Given the description of an element on the screen output the (x, y) to click on. 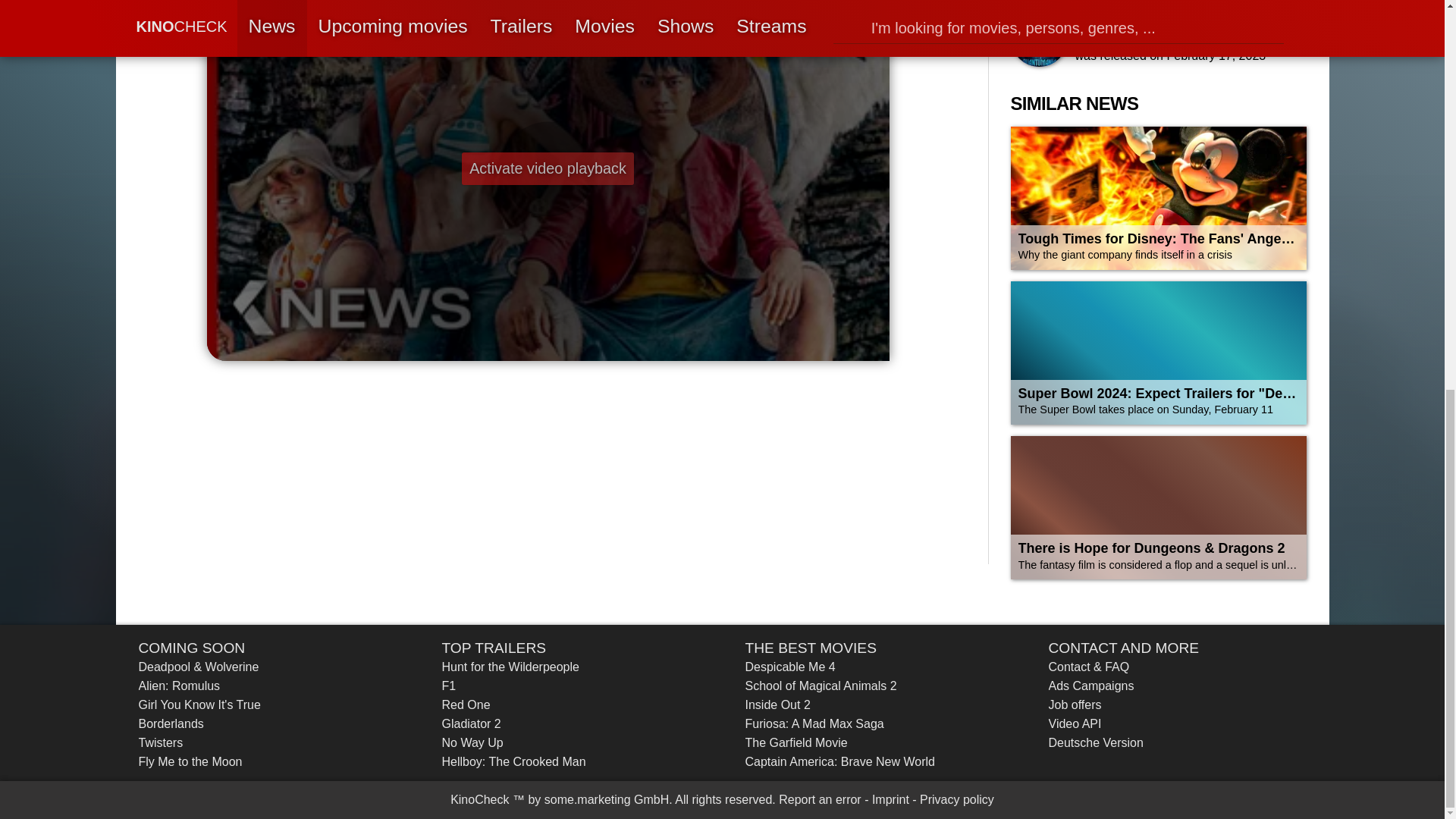
Red One (465, 704)
Despicable Me 4 (789, 667)
Furiosa: A Mad Max Saga (813, 724)
Twisters (160, 743)
Inside Out 2 (776, 704)
Fly Me to the Moon (189, 761)
The Garfield Movie (795, 743)
Captain America: Brave New World (839, 761)
Borderlands (170, 724)
Activate video playback (547, 168)
Gladiator 2 (470, 724)
